Given the description of an element on the screen output the (x, y) to click on. 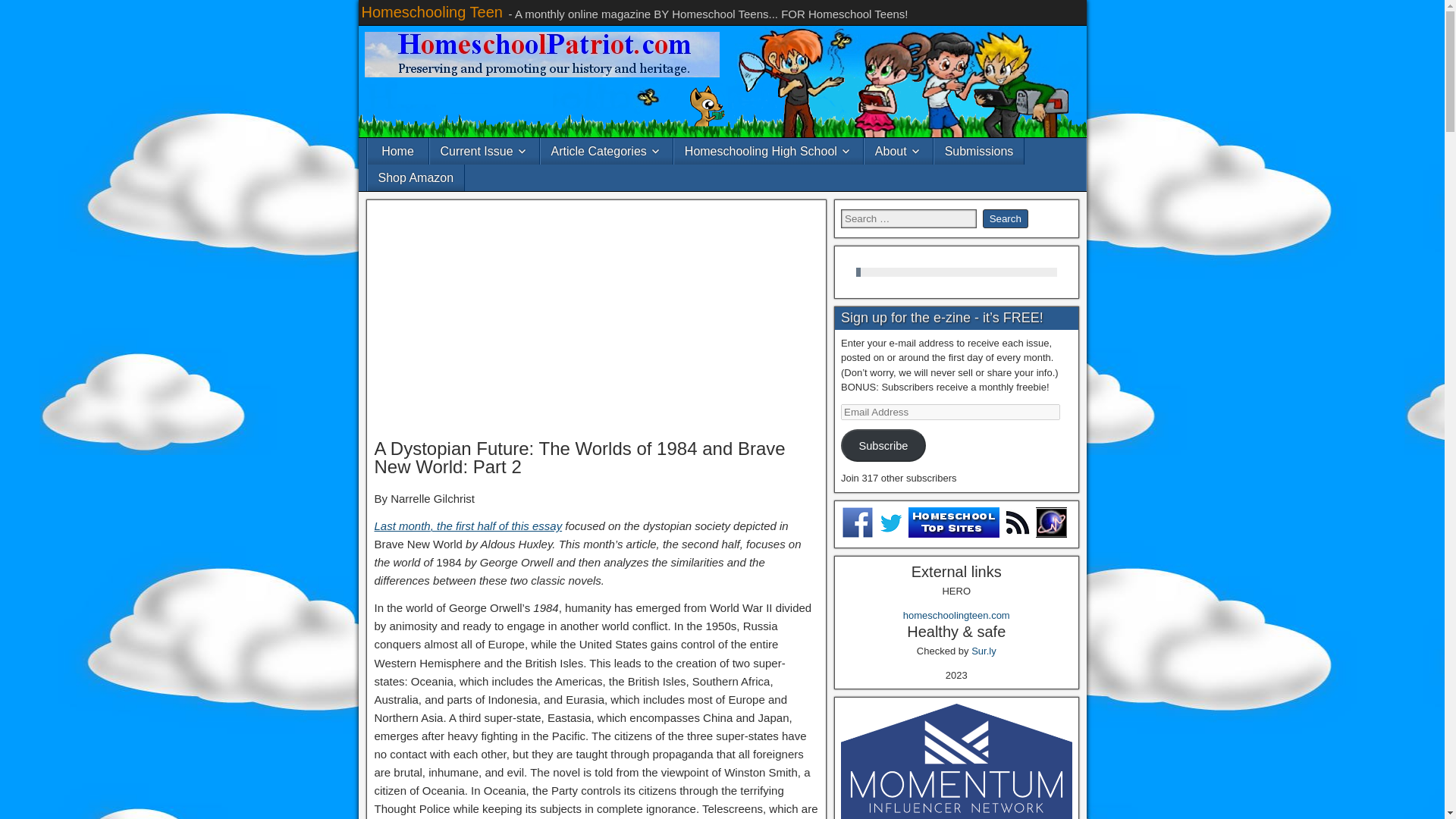
Advertisement (596, 319)
Submissions (979, 151)
About (898, 151)
Search (1004, 218)
Home (397, 151)
Last month (402, 525)
, the first half of this essay (496, 525)
Article Categories (606, 151)
Shop Amazon (415, 177)
Search (1004, 218)
Homeschool Patriot (541, 53)
Homeschooling Teen (431, 12)
Current Issue (483, 151)
Homeschooling High School (768, 151)
